Given the description of an element on the screen output the (x, y) to click on. 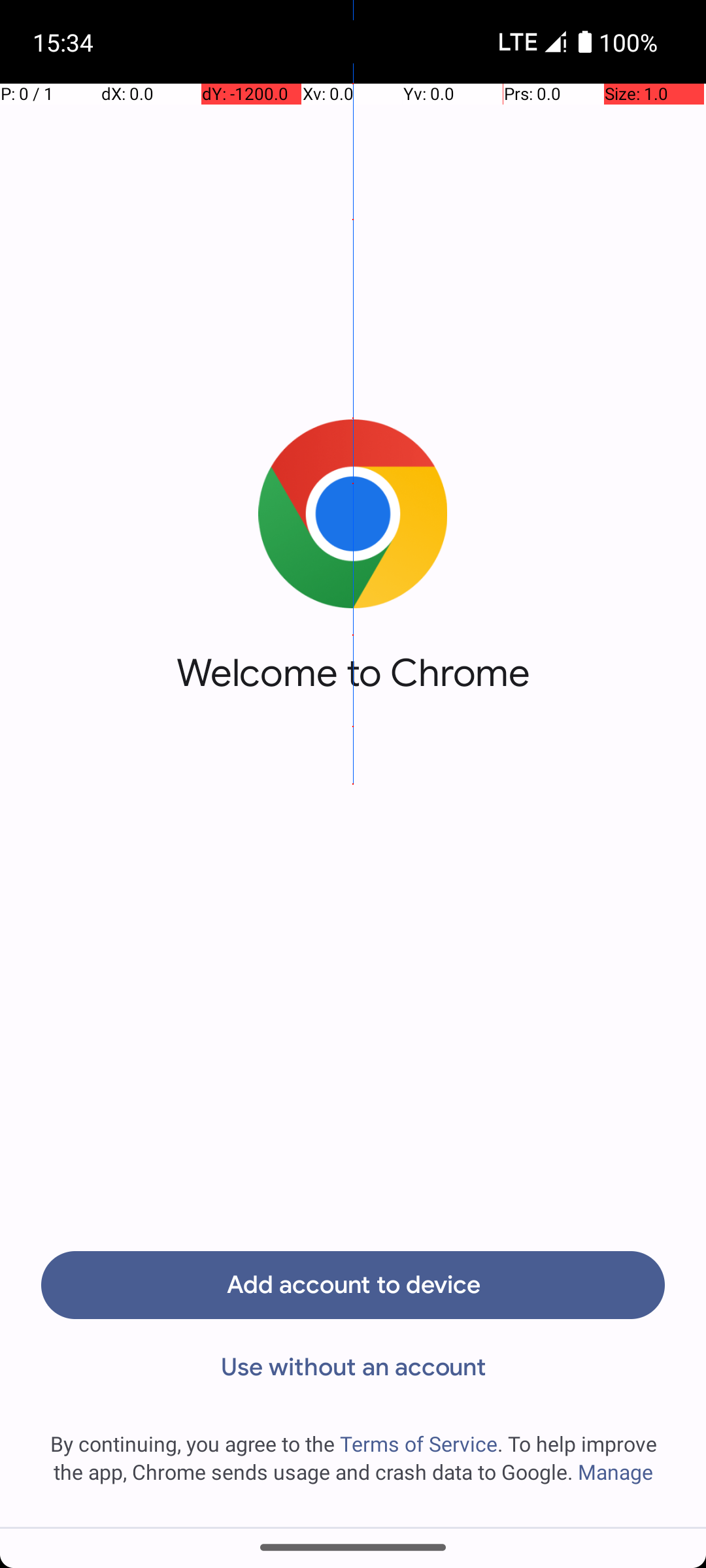
By continuing, you agree to the Terms of Service. To help improve the app, Chrome sends usage and crash data to Google. Manage Element type: android.widget.TextView (352, 1457)
Add account to device Element type: android.widget.Button (352, 1284)
Use without an account Element type: android.widget.Button (352, 1367)
